Given the description of an element on the screen output the (x, y) to click on. 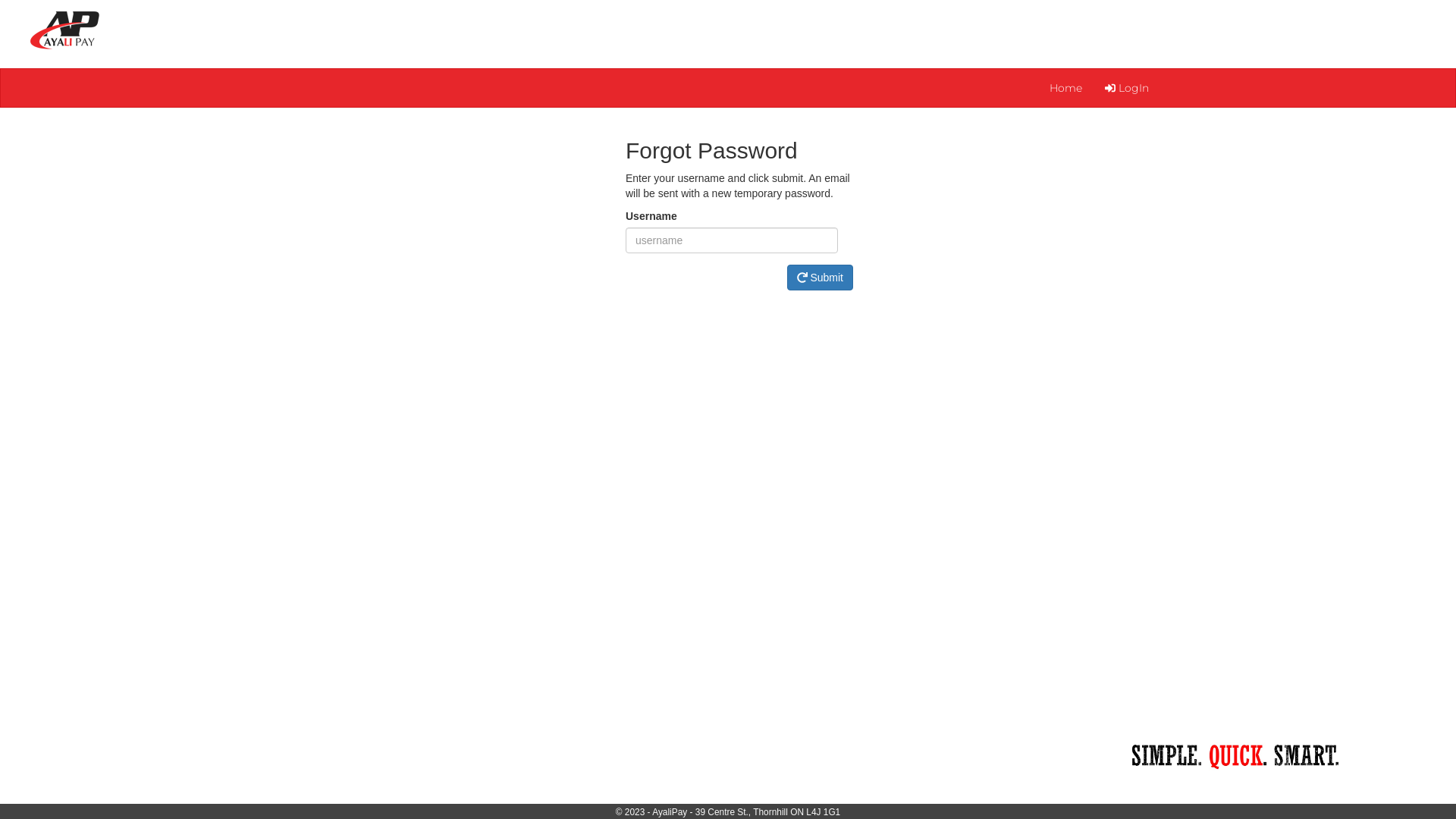
LogIn Element type: text (1126, 87)
Home Element type: text (1065, 87)
Submit Element type: text (820, 277)
